Given the description of an element on the screen output the (x, y) to click on. 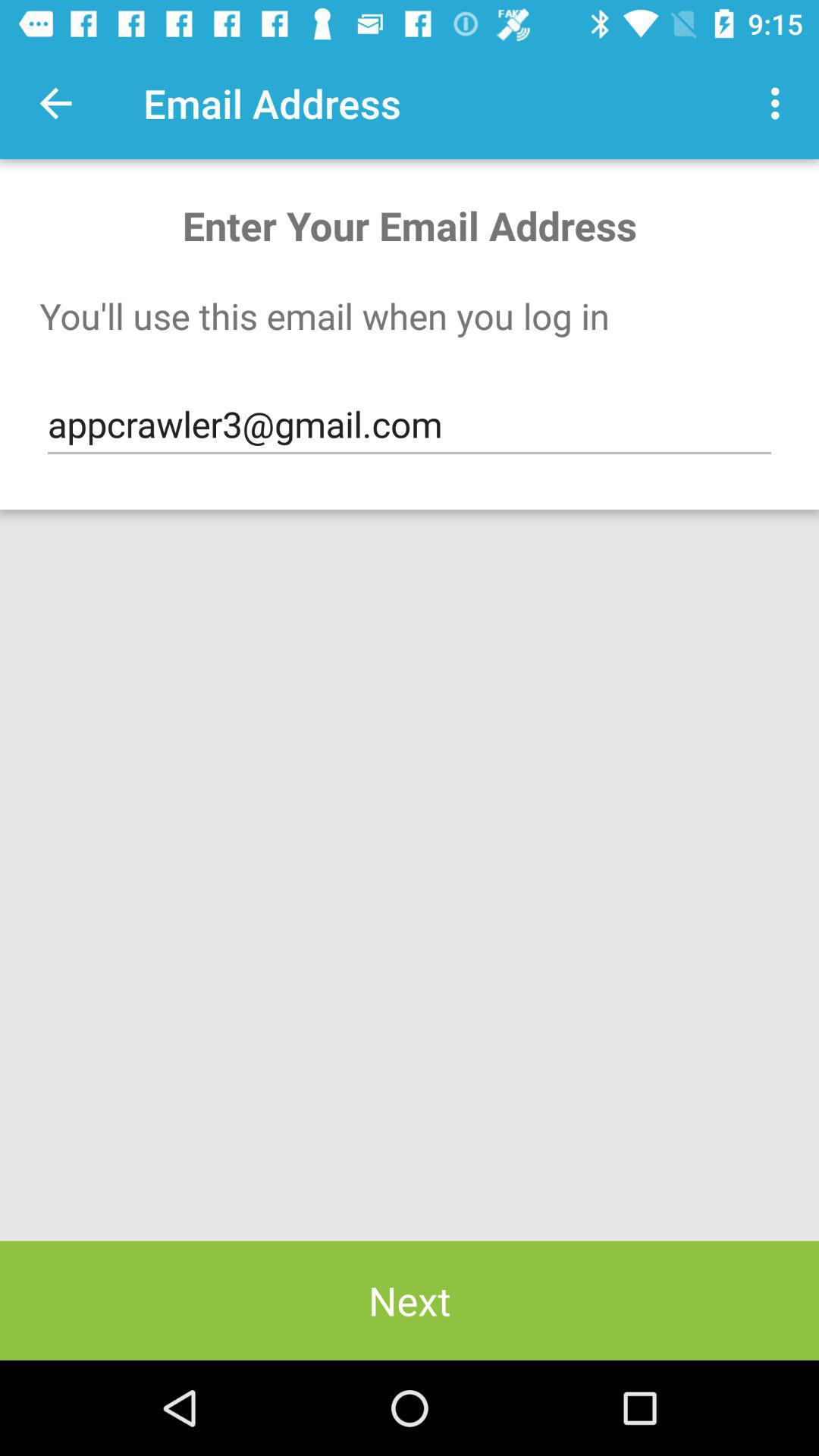
tap the icon next to email address icon (779, 103)
